Given the description of an element on the screen output the (x, y) to click on. 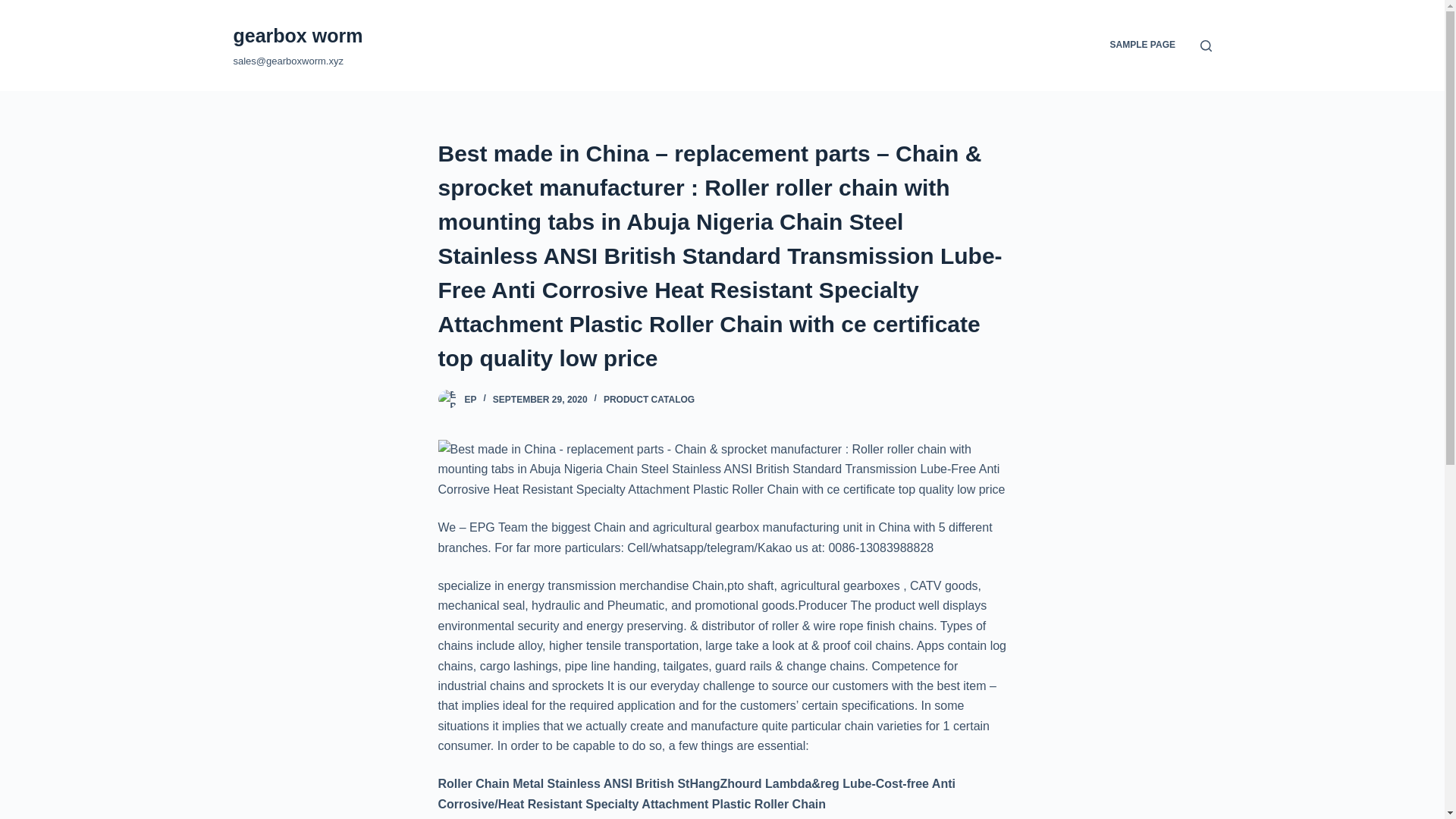
PRODUCT CATALOG (649, 398)
SAMPLE PAGE (1142, 45)
Skip to content (15, 7)
EP (470, 398)
Posts by ep (470, 398)
gearbox worm (297, 35)
